Given the description of an element on the screen output the (x, y) to click on. 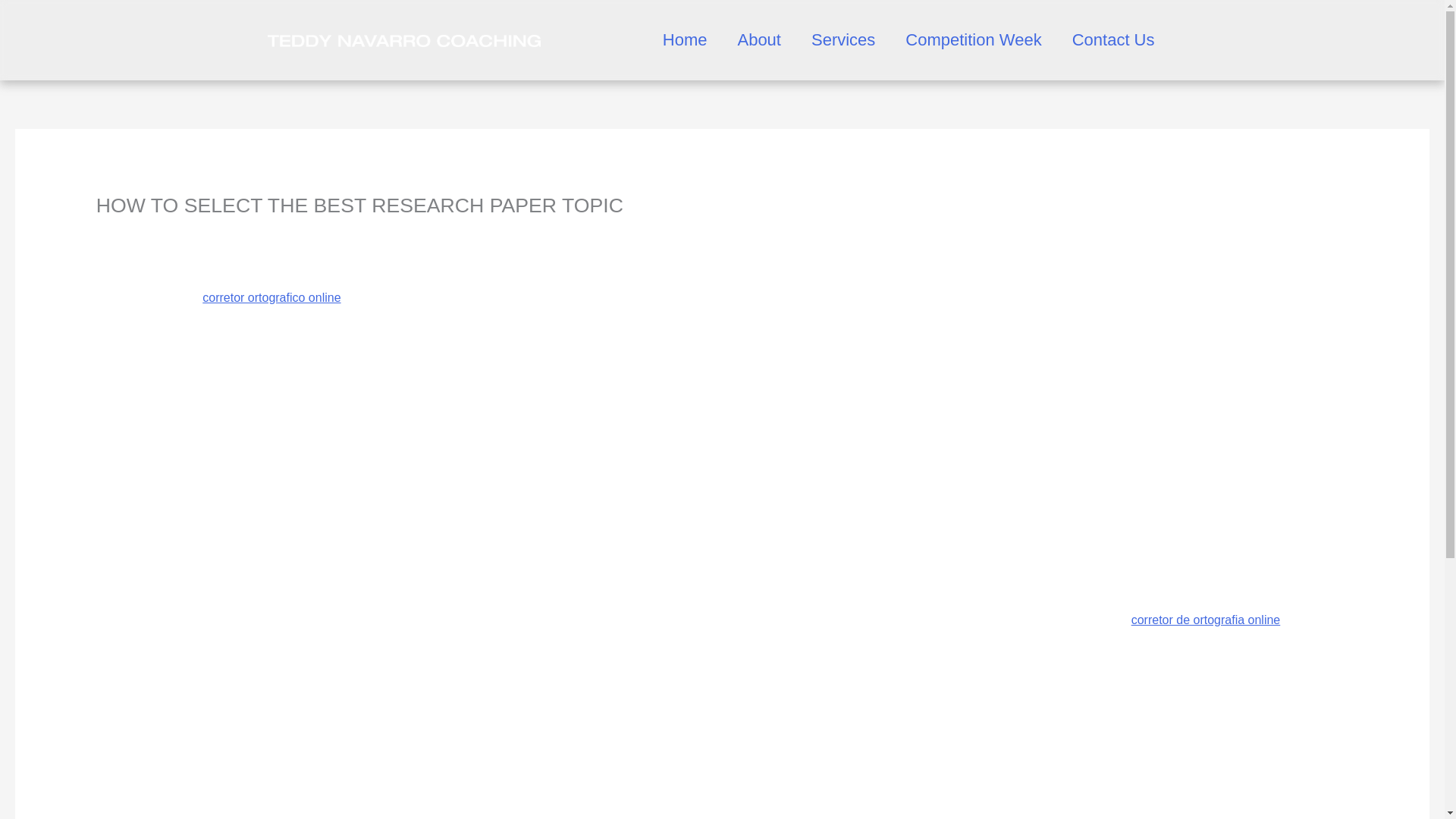
Uncategorized (135, 230)
View all posts by navarro.teddy (239, 230)
corretor ortografico online (271, 297)
Competition Week (973, 39)
Contact Us (1113, 39)
About (759, 39)
Home (684, 39)
corretor de ortografia online (1206, 619)
Services (842, 39)
navarro.teddy (239, 230)
